Given the description of an element on the screen output the (x, y) to click on. 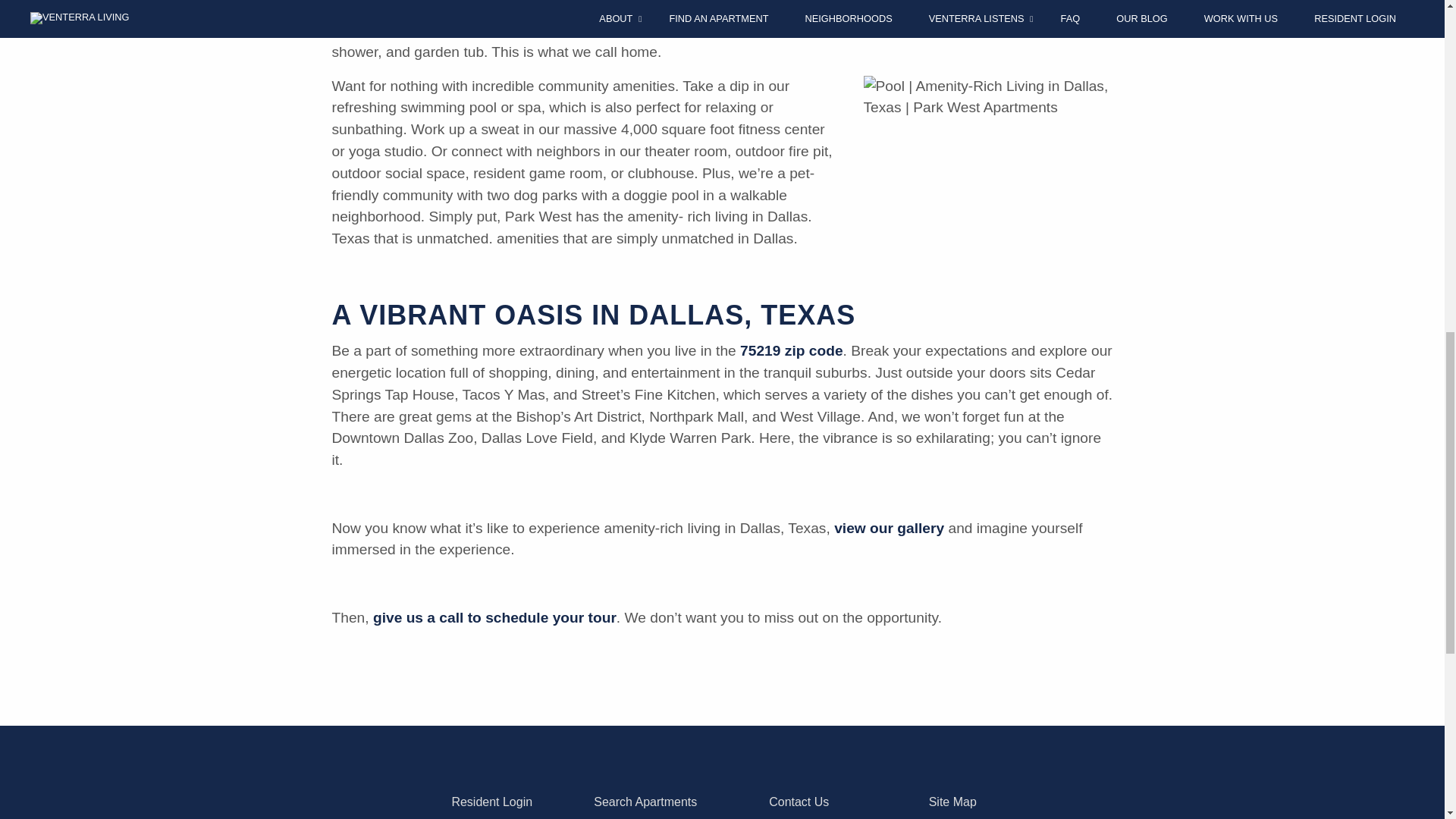
give us a call to schedule your tour (493, 617)
Search Apartments (645, 801)
Resident Login (491, 801)
75219 zip code (791, 350)
view our gallery (888, 528)
